Given the description of an element on the screen output the (x, y) to click on. 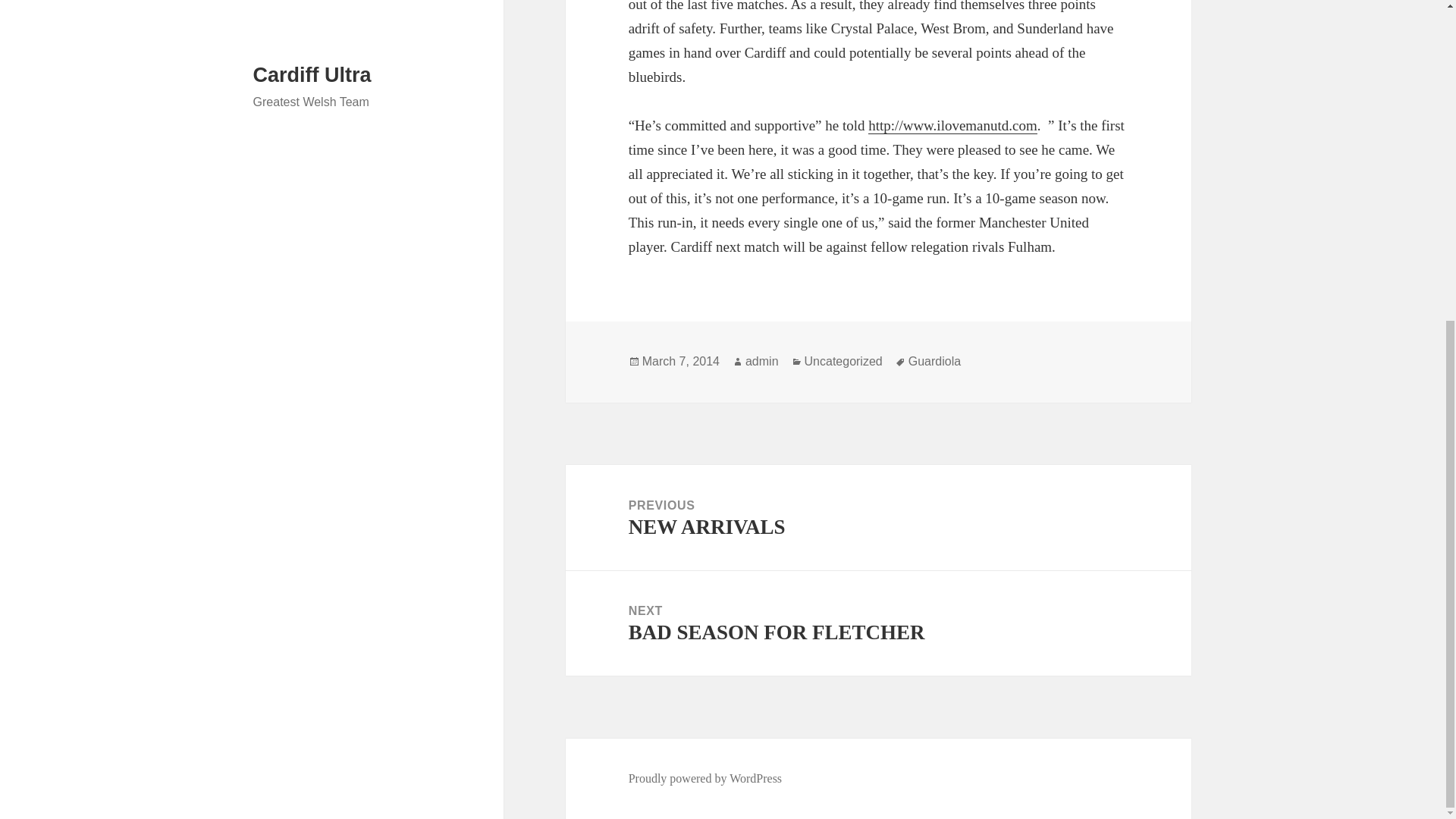
Guardiola (934, 361)
Uncategorized (878, 623)
Proudly powered by WordPress (843, 361)
March 7, 2014 (704, 778)
admin (680, 361)
